Given the description of an element on the screen output the (x, y) to click on. 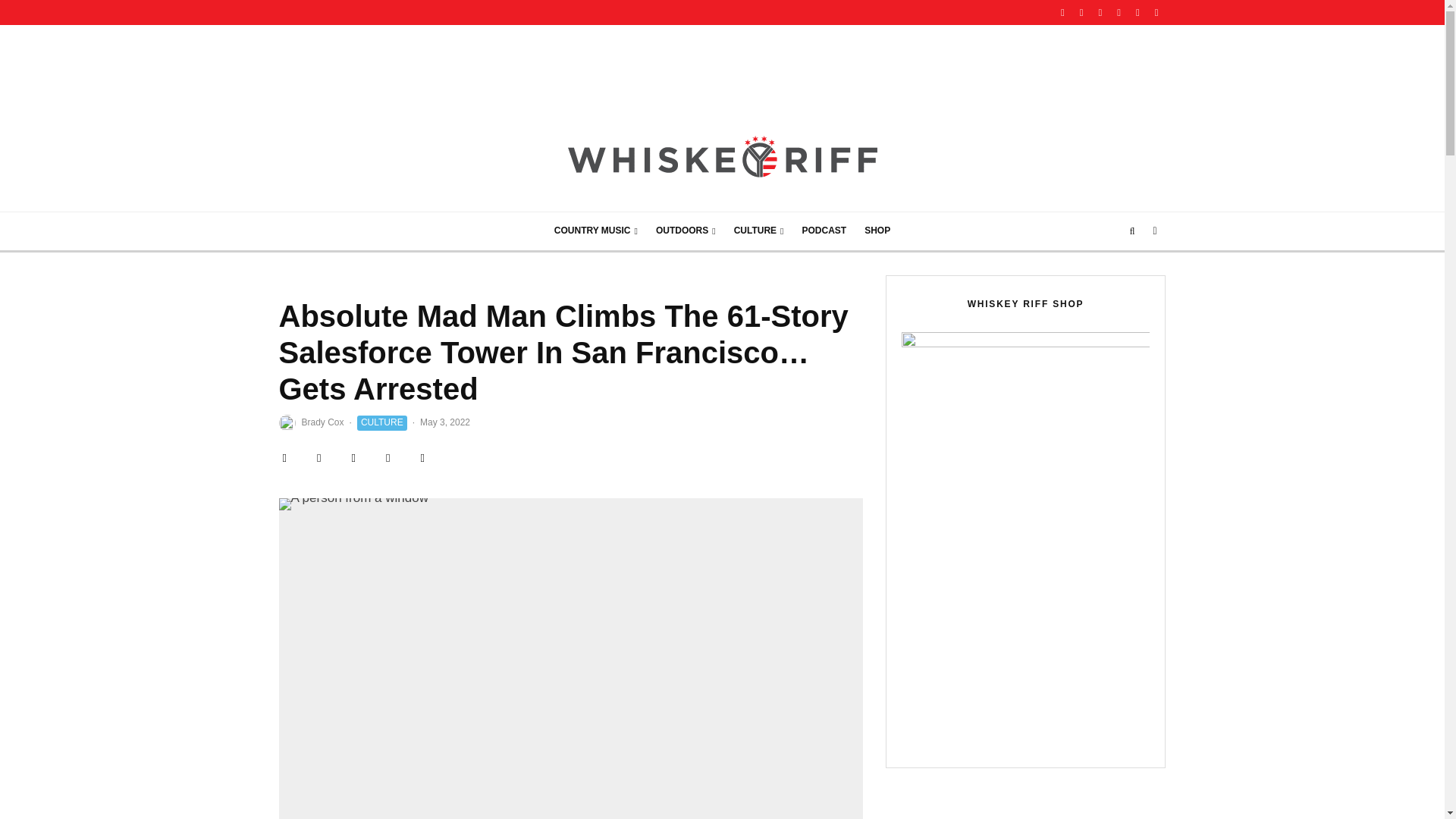
CULTURE (759, 231)
OUTDOORS (685, 231)
COUNTRY MUSIC (595, 231)
